Given the description of an element on the screen output the (x, y) to click on. 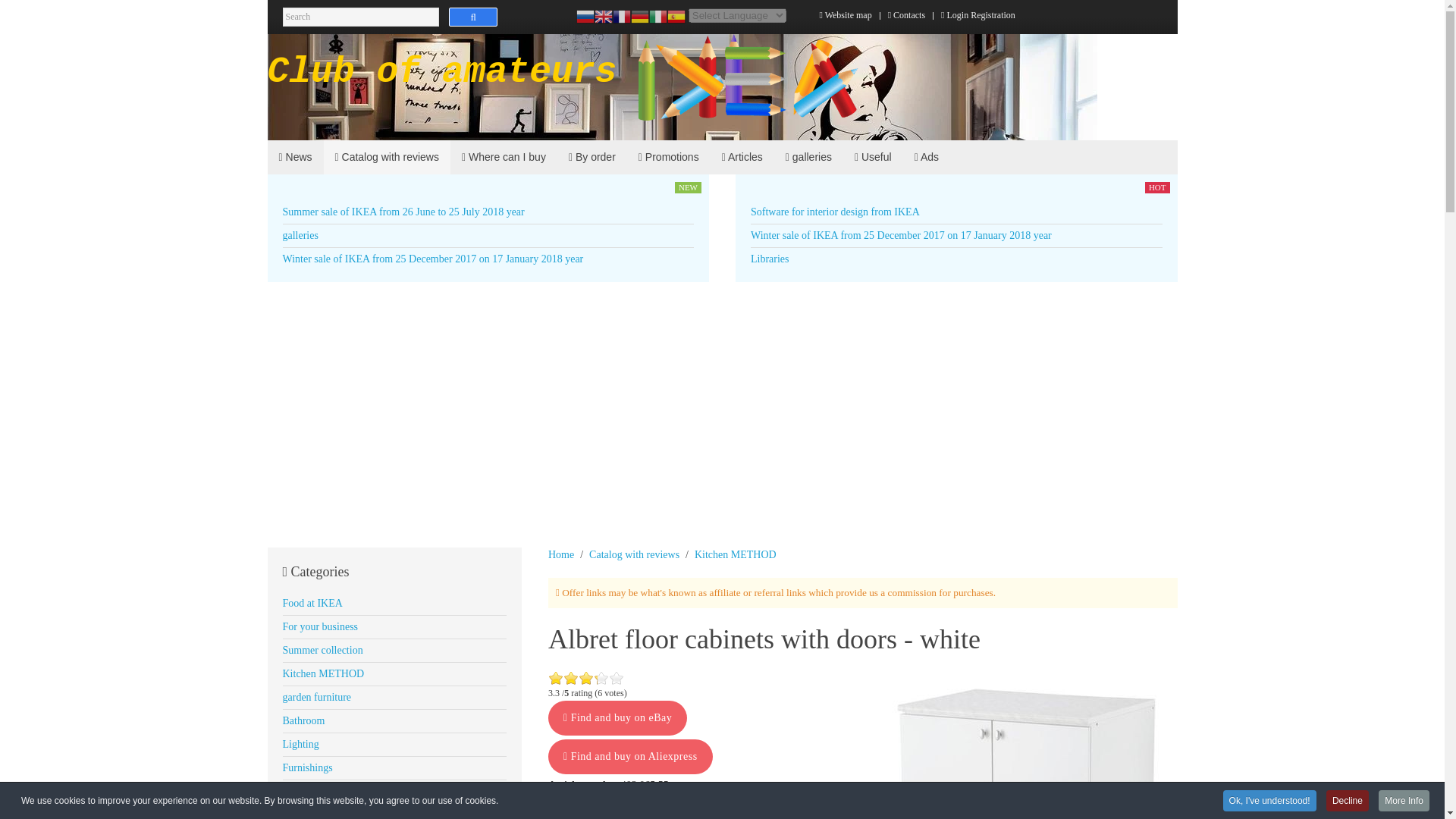
Italiano (657, 15)
Website map (844, 14)
Login Registration (977, 14)
Deutsch (639, 15)
English (603, 15)
Albret floor cabinets with doors - white (1024, 744)
Contacts (906, 14)
Where can I buy (503, 157)
News (294, 157)
Catalog with reviews (386, 157)
Club of amateurs (562, 87)
